Given the description of an element on the screen output the (x, y) to click on. 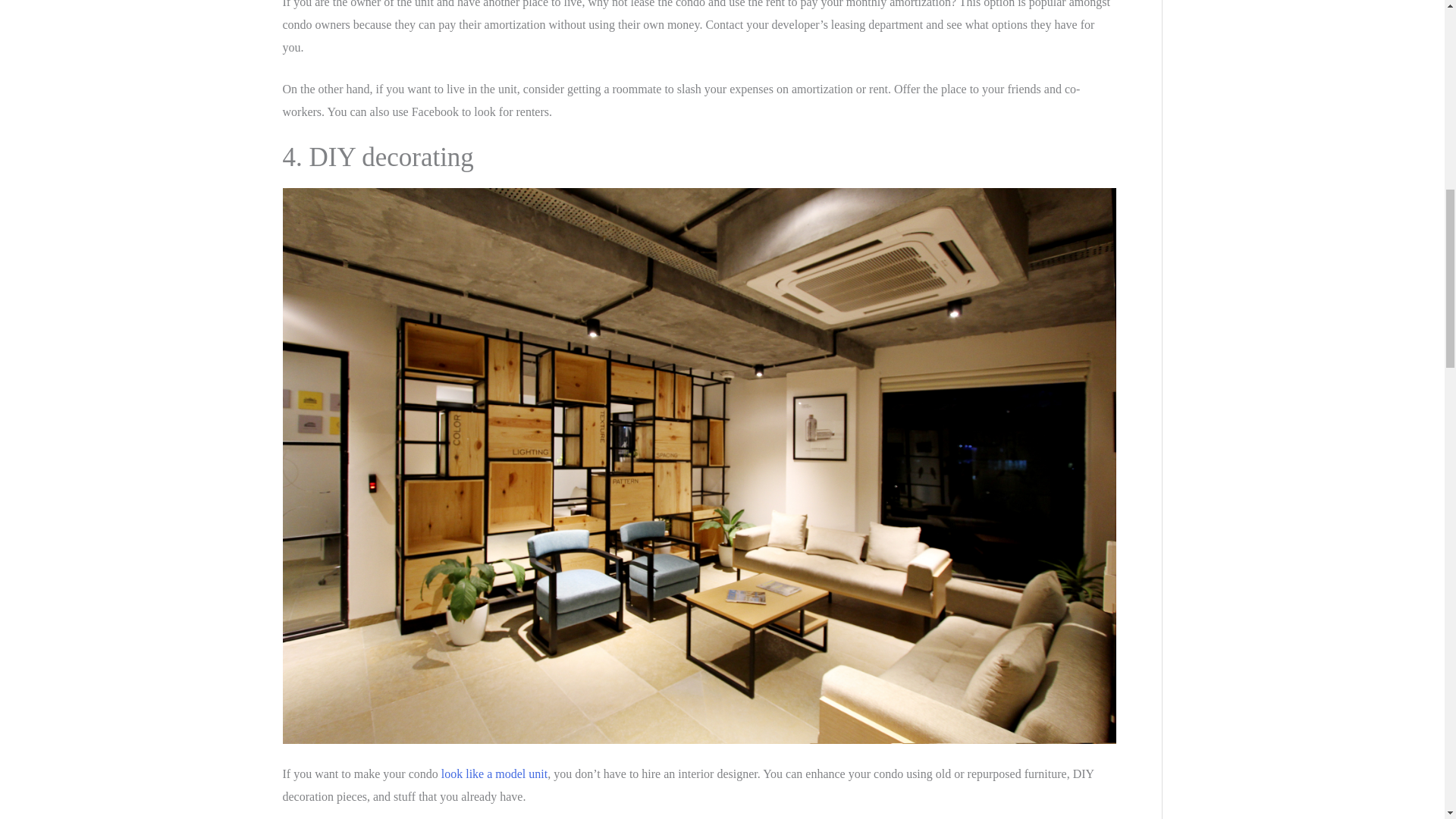
look like a model unit (494, 773)
